Given the description of an element on the screen output the (x, y) to click on. 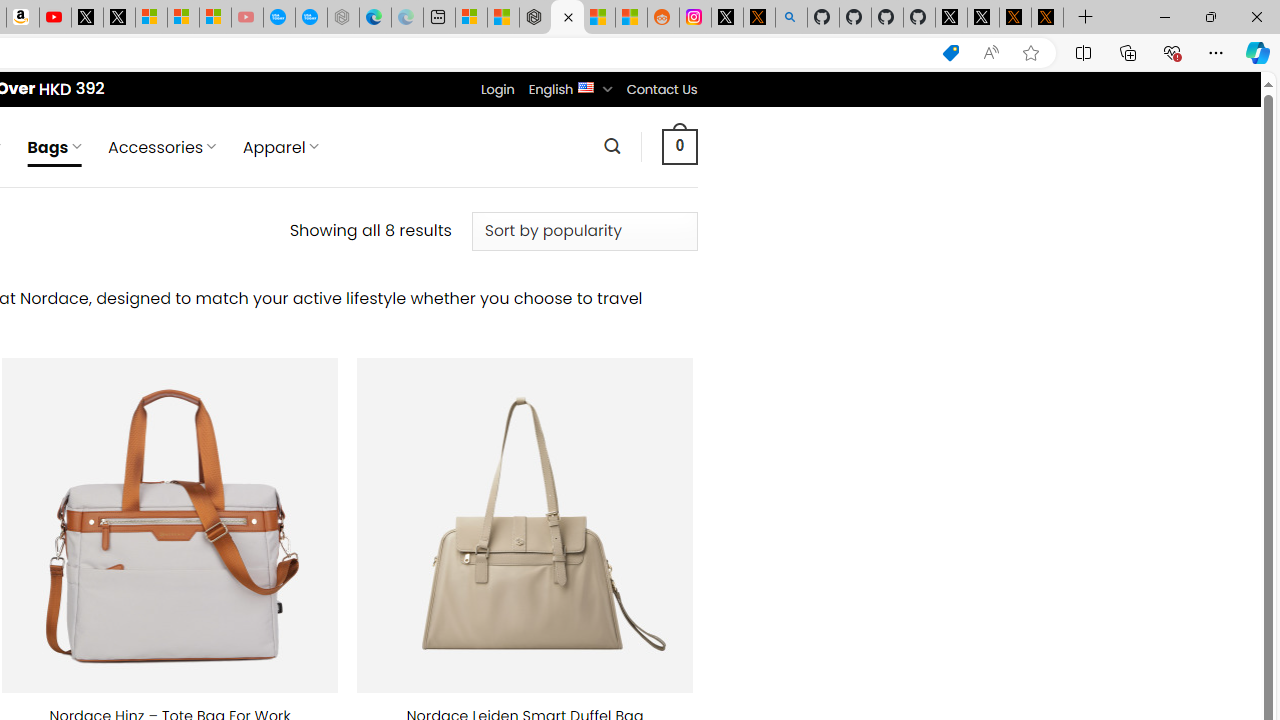
Log in to X / X (727, 17)
Day 1: Arriving in Yemen (surreal to be here) - YouTube (54, 17)
This site has coupons! Shopping in Microsoft Edge (950, 53)
English (586, 86)
Contact Us (661, 89)
Nordace - Nordace has arrived Hong Kong - Sleeping (343, 17)
